Given the description of an element on the screen output the (x, y) to click on. 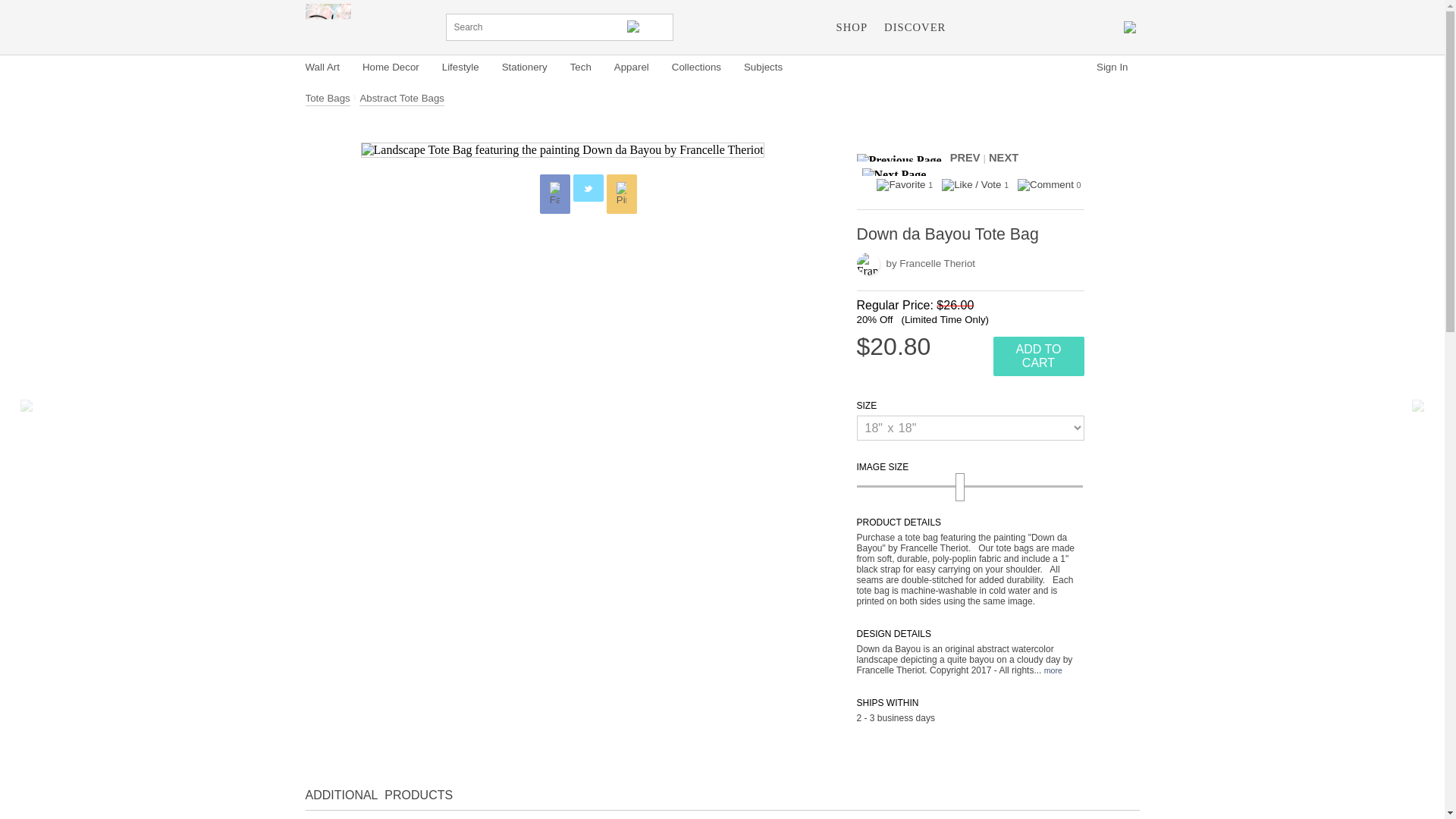
Share Product on Twitter (588, 187)
Search (646, 27)
Twitter (588, 188)
Favorite (900, 184)
SHOP (852, 27)
DISCOVER (914, 27)
Francelle Theriot - Artist Website (327, 26)
Comment (1045, 184)
